Given the description of an element on the screen output the (x, y) to click on. 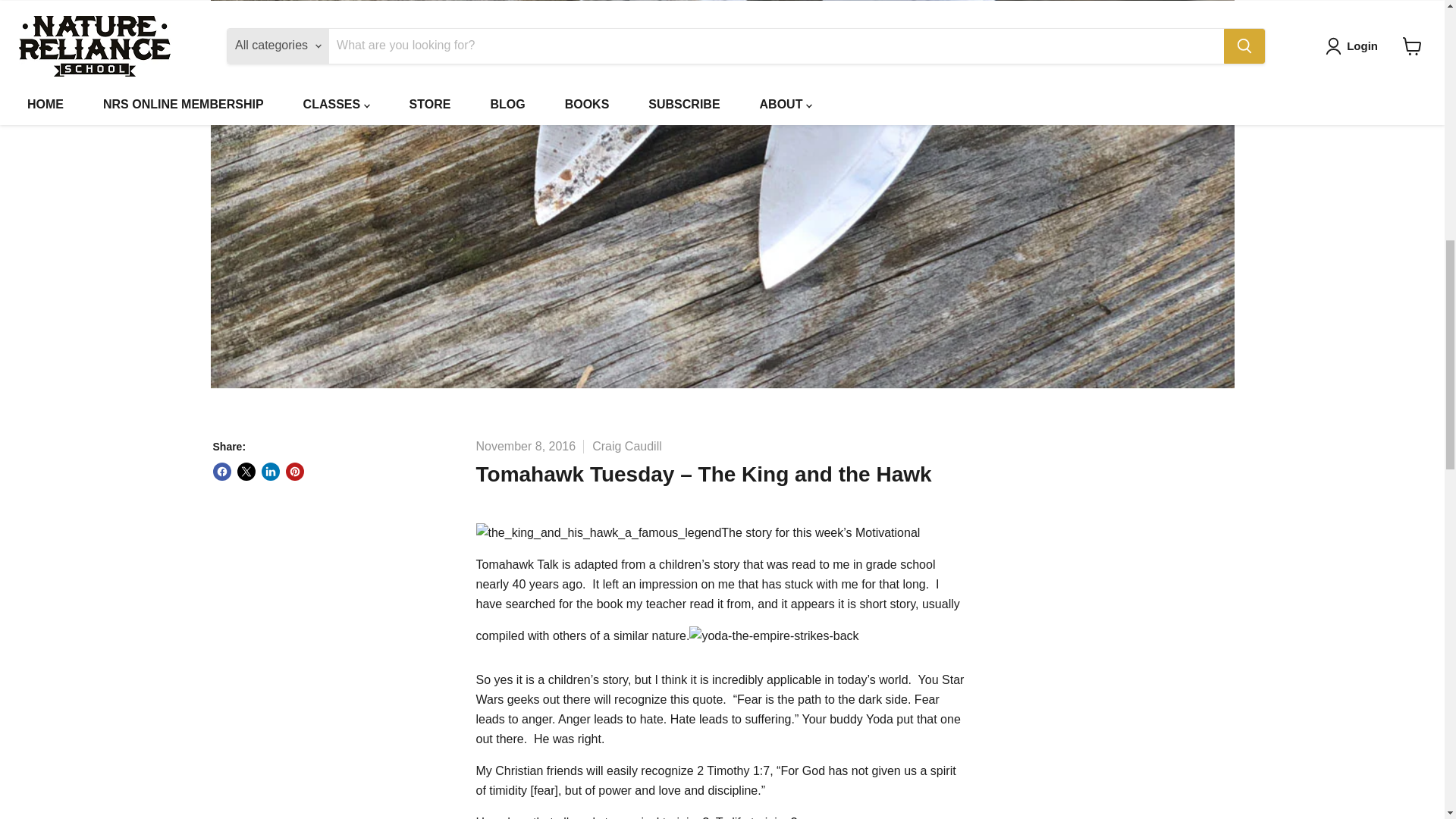
Share on Facebook (221, 471)
